Given the description of an element on the screen output the (x, y) to click on. 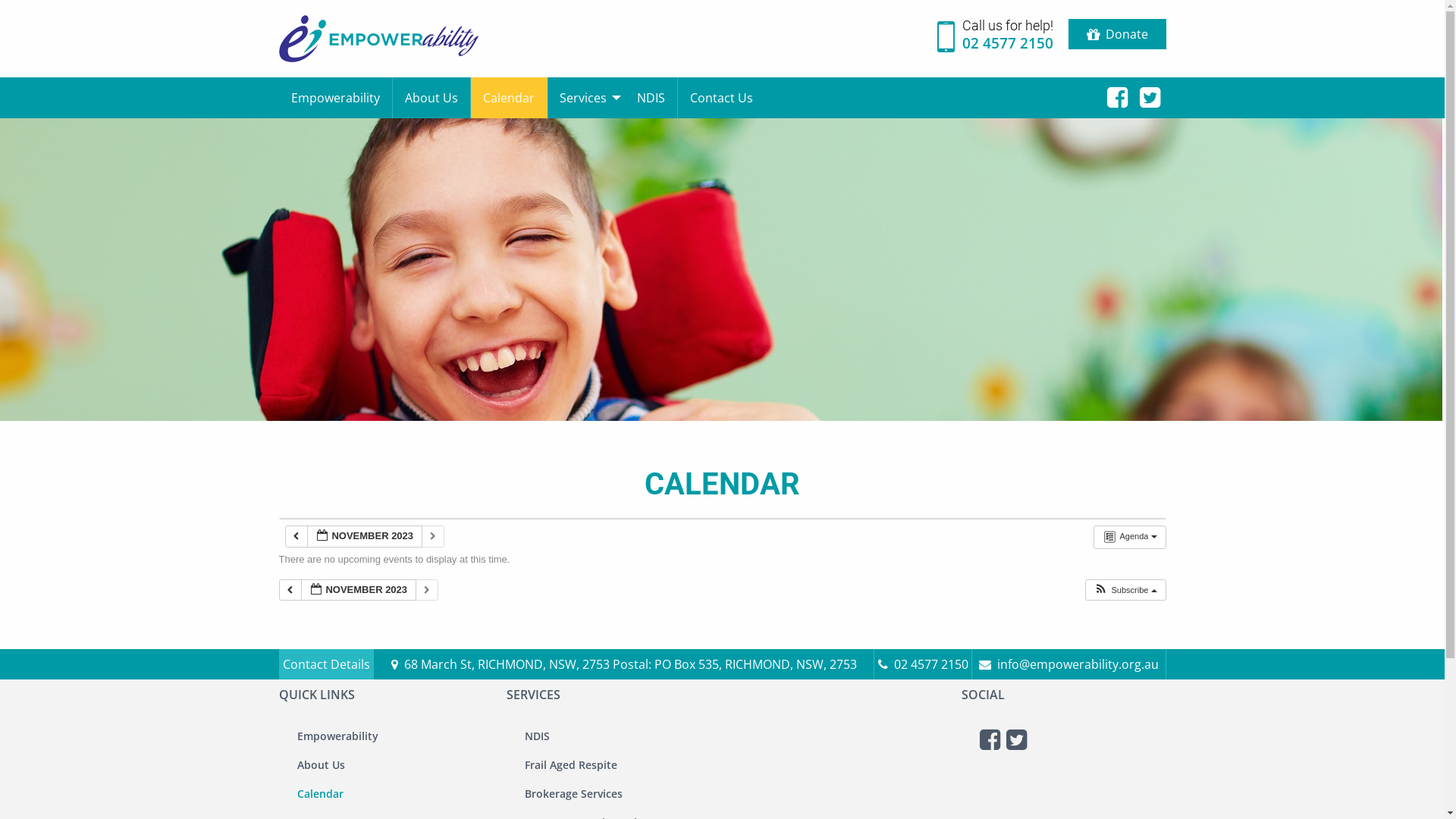
Calendar Element type: text (508, 97)
Call us for help!
02 4577 2150 Element type: text (995, 38)
About Us Element type: text (387, 764)
Calendar Element type: text (387, 793)
Brokerage Services Element type: text (614, 793)
NOVEMBER 2023 Element type: text (364, 536)
About Us Element type: text (431, 97)
Empowerability Element type: text (335, 97)
Empowerability Element type: text (387, 735)
Contact Us Element type: text (721, 97)
NDIS Element type: text (650, 97)
Agenda Element type: text (1129, 536)
NDIS Element type: text (614, 735)
02 4577 2150 Element type: text (922, 664)
Frail Aged Respite Element type: text (614, 764)
Services Element type: text (585, 97)
info@empowerability.org.au Element type: text (1068, 664)
NOVEMBER 2023 Element type: text (358, 590)
Donate Element type: text (1116, 33)
